Given the description of an element on the screen output the (x, y) to click on. 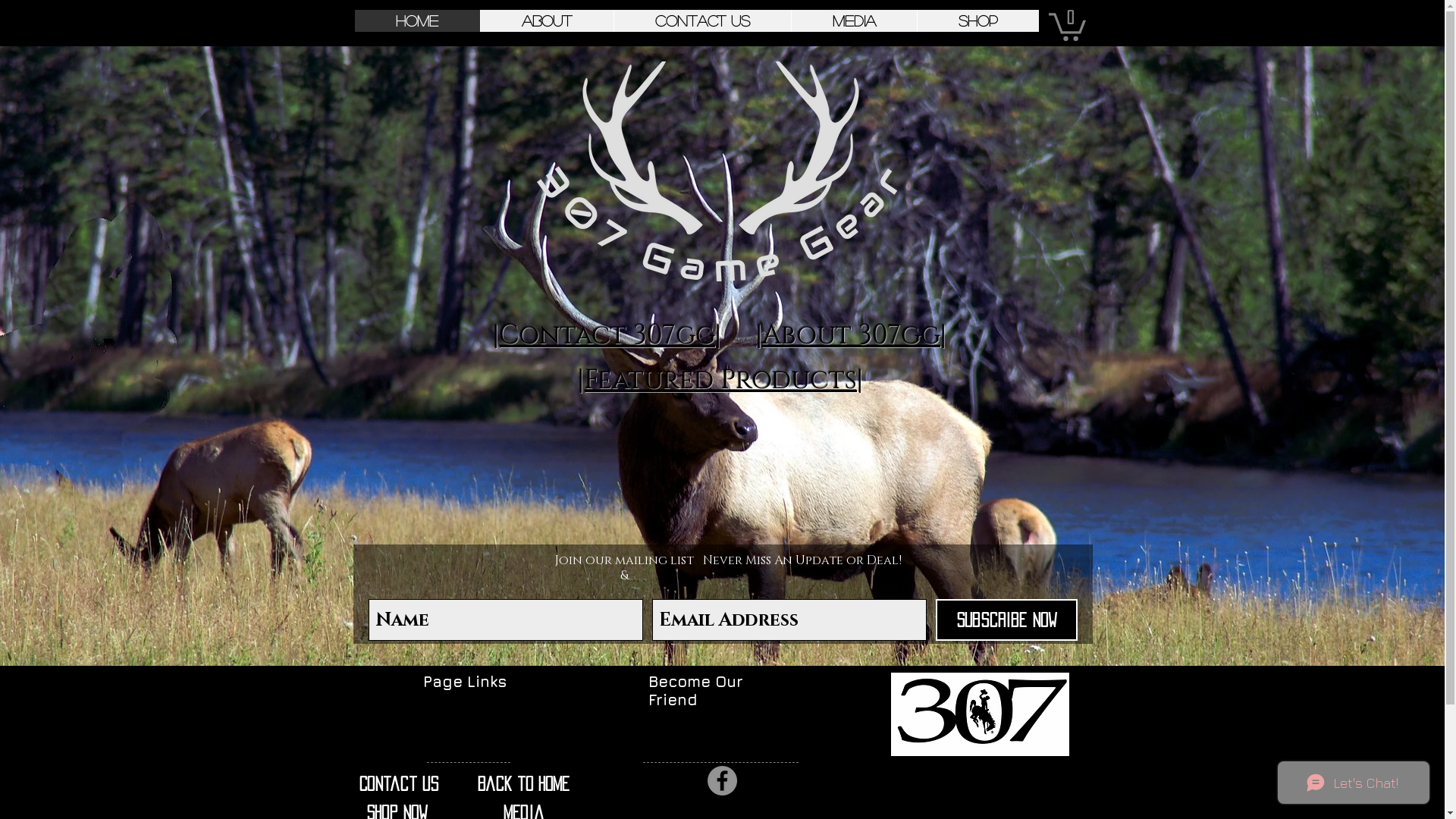
|Featured Products| Element type: text (719, 380)
Home Element type: text (417, 20)
Subscribe Now Element type: text (1006, 619)
Contact Us Element type: text (701, 20)
0 Element type: text (1066, 24)
|Contact 307gg| Element type: text (606, 335)
About Element type: text (545, 20)
Back to Home Element type: text (530, 784)
|About 307gg| Element type: text (850, 335)
Shop Element type: text (977, 20)
Contact Us Element type: text (413, 784)
Media Element type: text (853, 20)
